Given the description of an element on the screen output the (x, y) to click on. 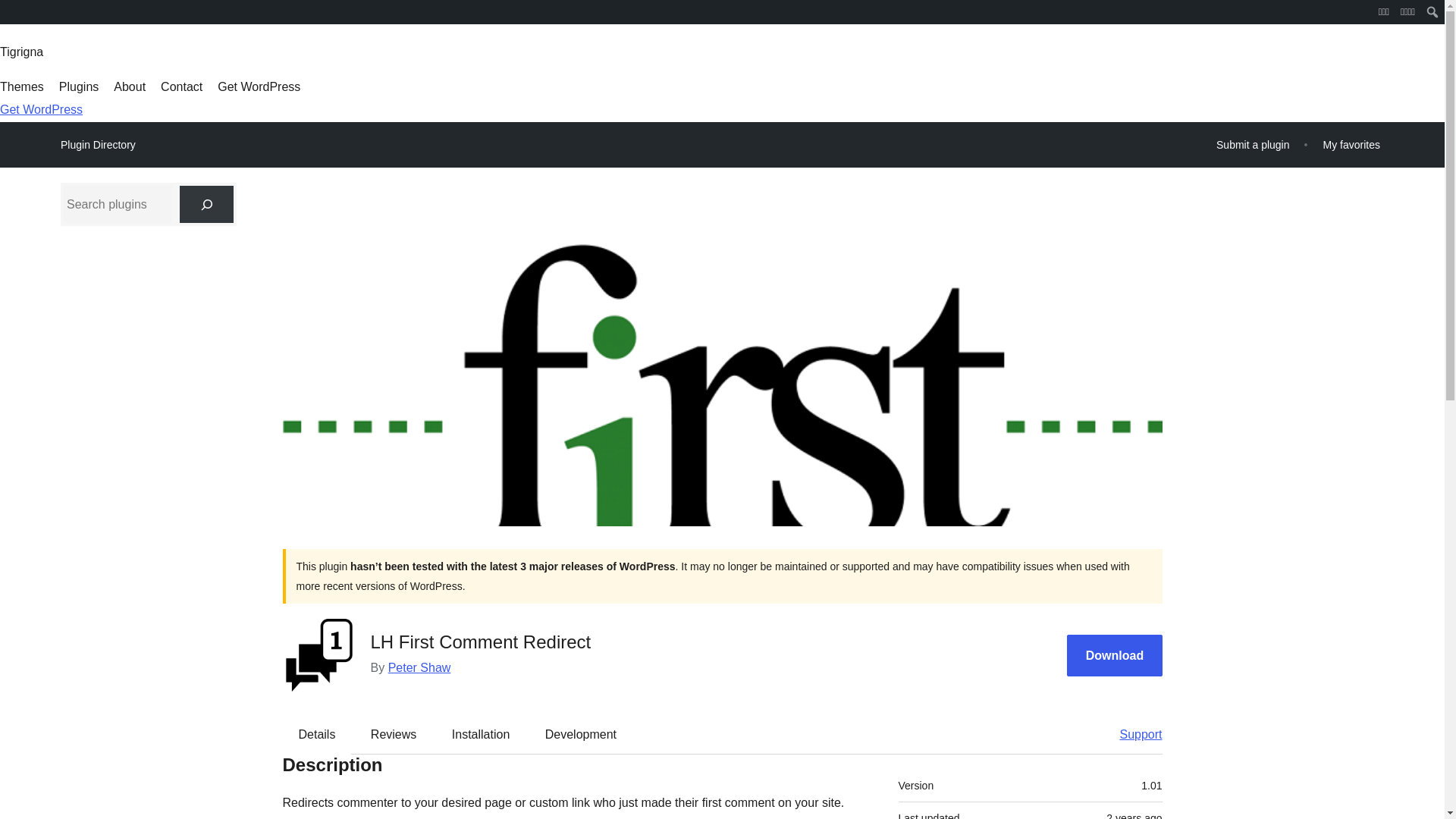
Details (316, 733)
Submit a plugin (1253, 144)
About (129, 87)
Download (1114, 655)
Get WordPress (41, 109)
My favorites (1351, 144)
Development (580, 733)
Contact (181, 87)
Plugin Directory (97, 144)
Peter Shaw (419, 667)
